Given the description of an element on the screen output the (x, y) to click on. 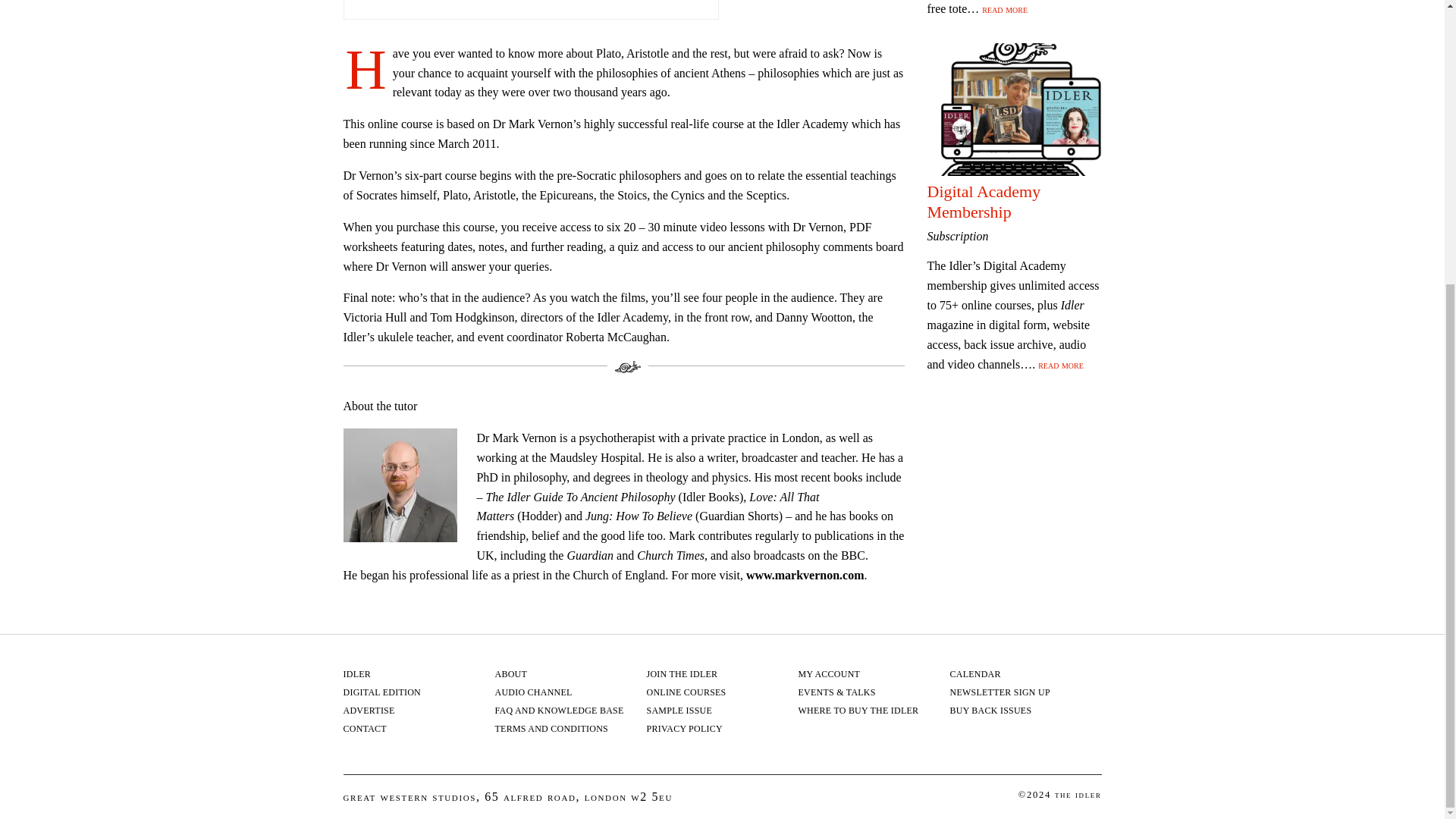
read more (1004, 9)
read more (1060, 364)
www.markvernon.com (804, 574)
Digital Academy Membership (983, 200)
